Given the description of an element on the screen output the (x, y) to click on. 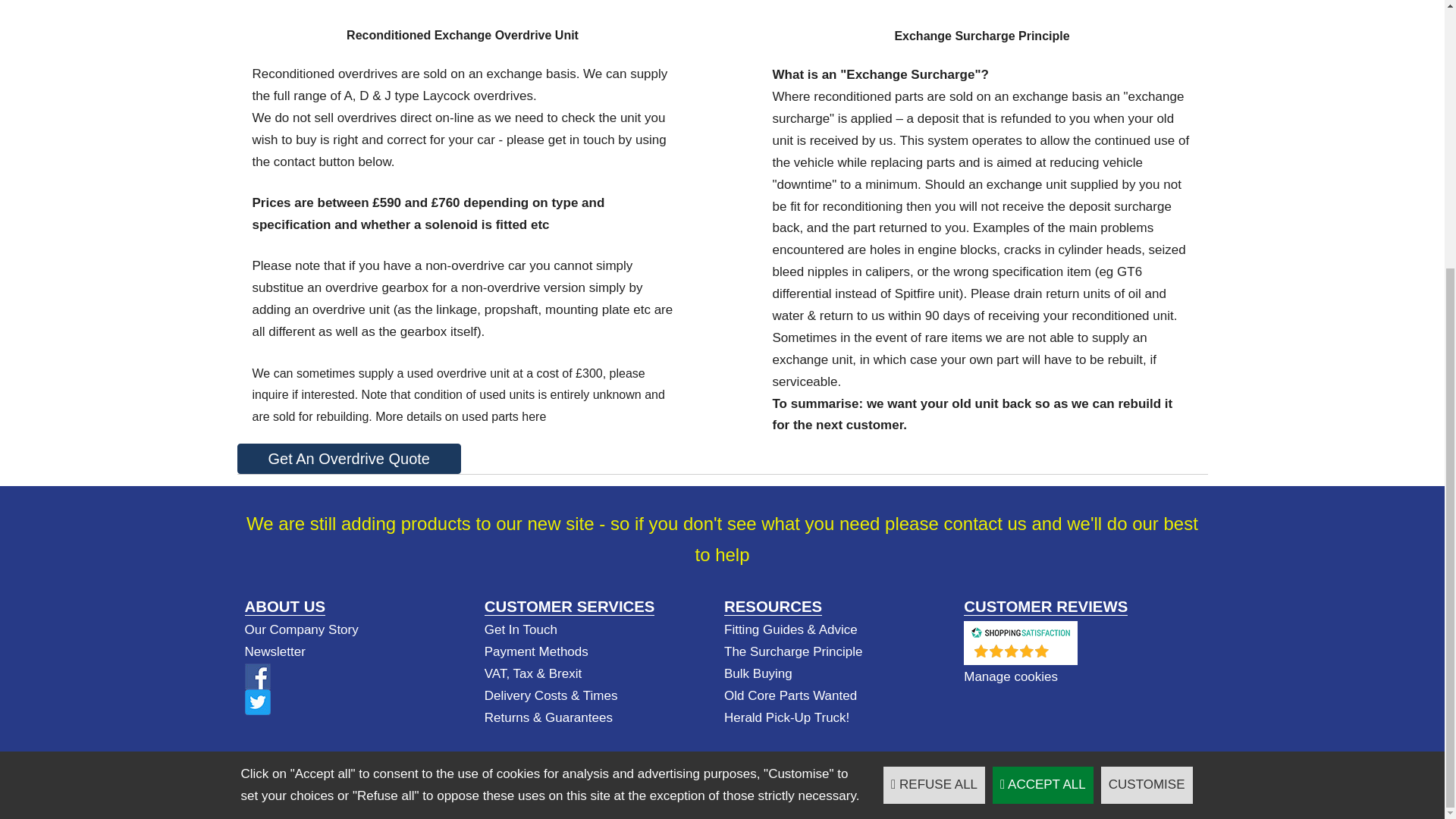
Get An Overdrive Quote (347, 458)
More details on used parts here (460, 416)
